Given the description of an element on the screen output the (x, y) to click on. 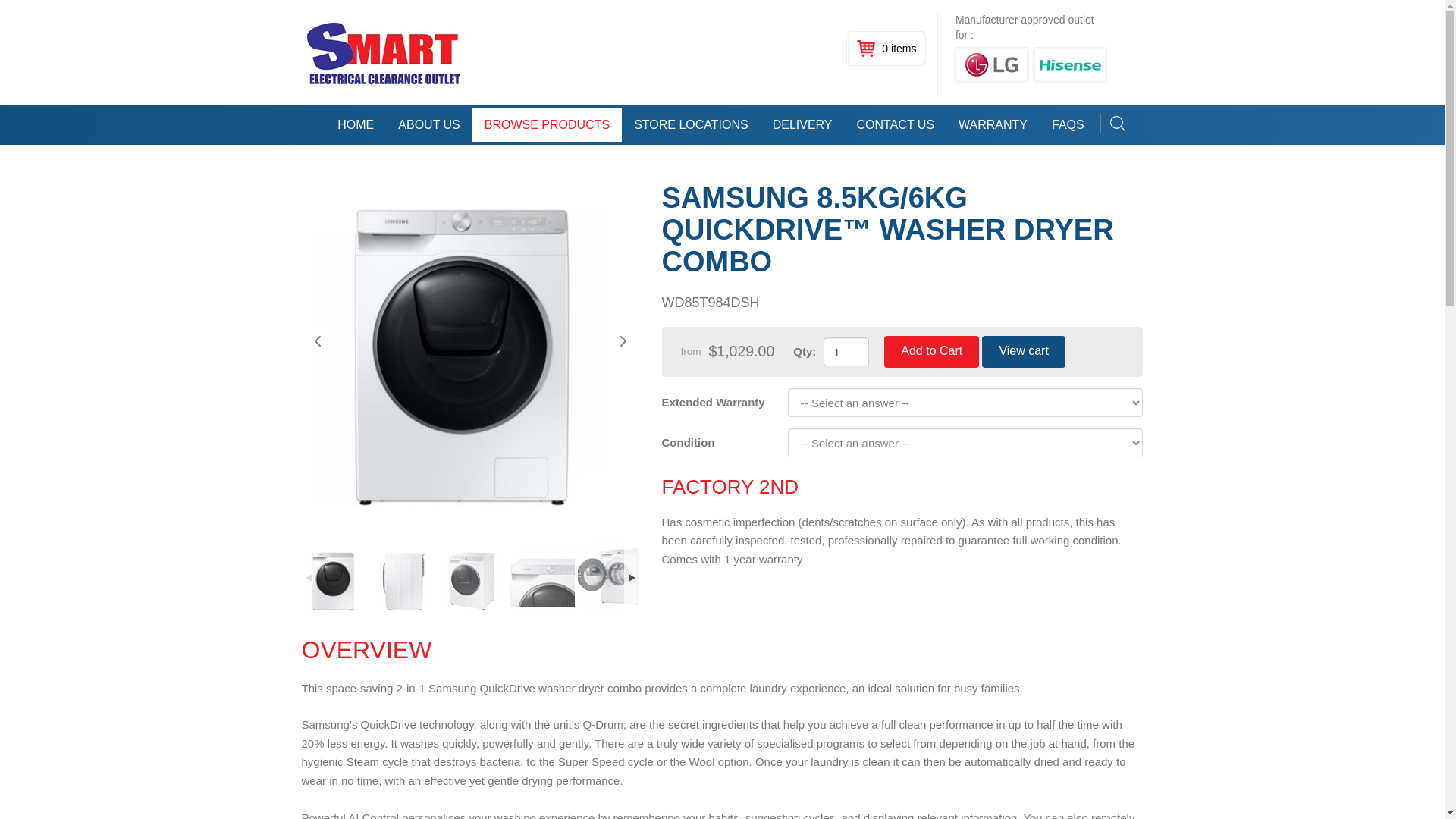
WARRANTY (992, 124)
STORE LOCATIONS (690, 124)
View cart (1023, 351)
Add to Cart (930, 351)
BROWSE PRODUCTS (546, 124)
FAQS (1067, 124)
ABOUT US (428, 124)
0 items (885, 48)
CONTACT US (895, 124)
DELIVERY (802, 124)
1 (846, 351)
HOME (354, 124)
